Given the description of an element on the screen output the (x, y) to click on. 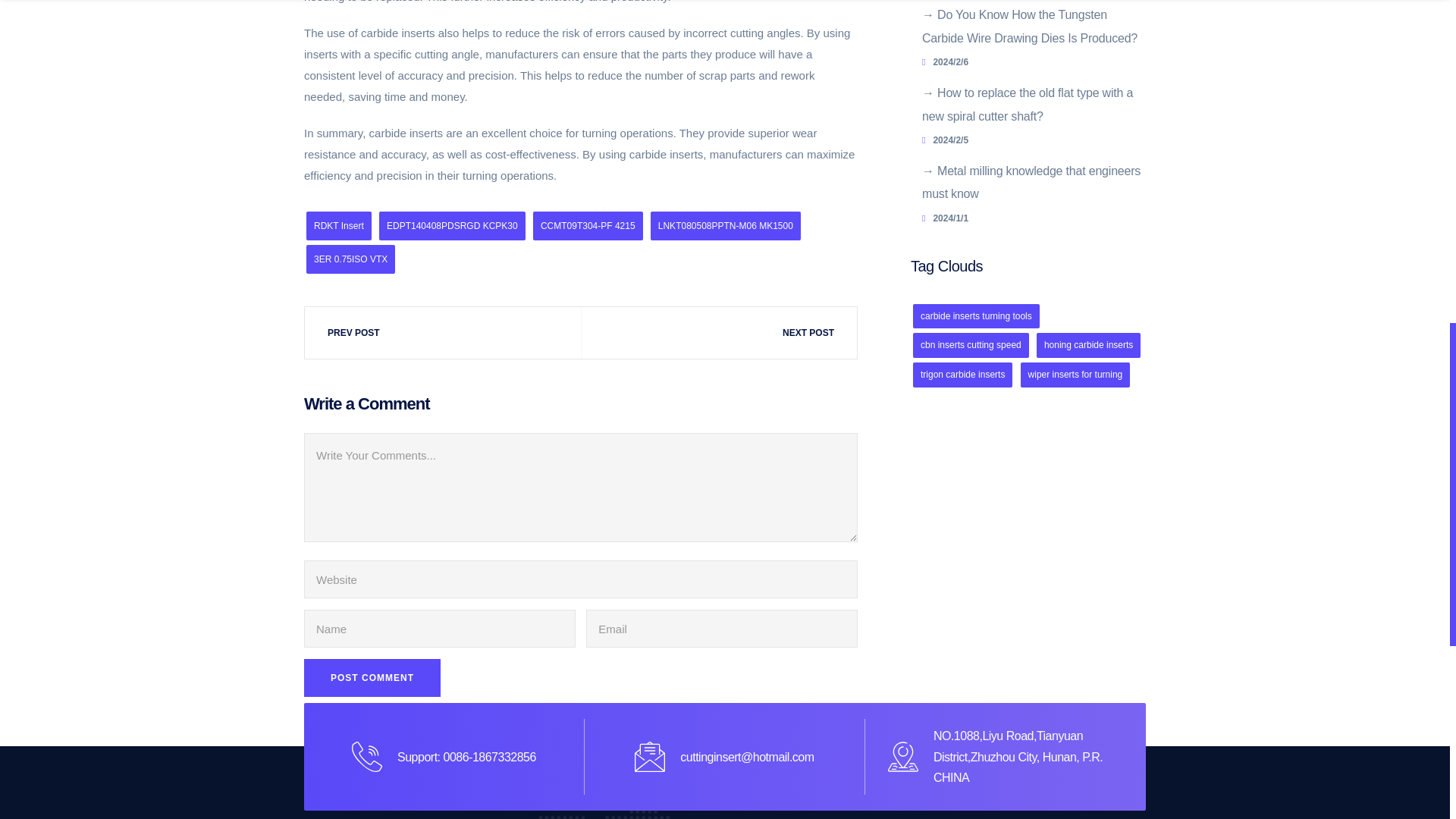
EDPT140408PDSRGD KCPK30 (451, 225)
carbide inserts turning tools (975, 316)
RDKT Insert (338, 225)
CCMT09T304-PF 4215 (587, 225)
cbn inserts cutting speed (970, 344)
trigon carbide inserts (961, 374)
LNKT080508PPTN-M06 MK1500 (725, 225)
Metal milling knowledge that engineers must know (1030, 181)
Post Comment (372, 677)
3ER 0.75ISO VTX (349, 258)
honing carbide inserts (1088, 344)
